Given the description of an element on the screen output the (x, y) to click on. 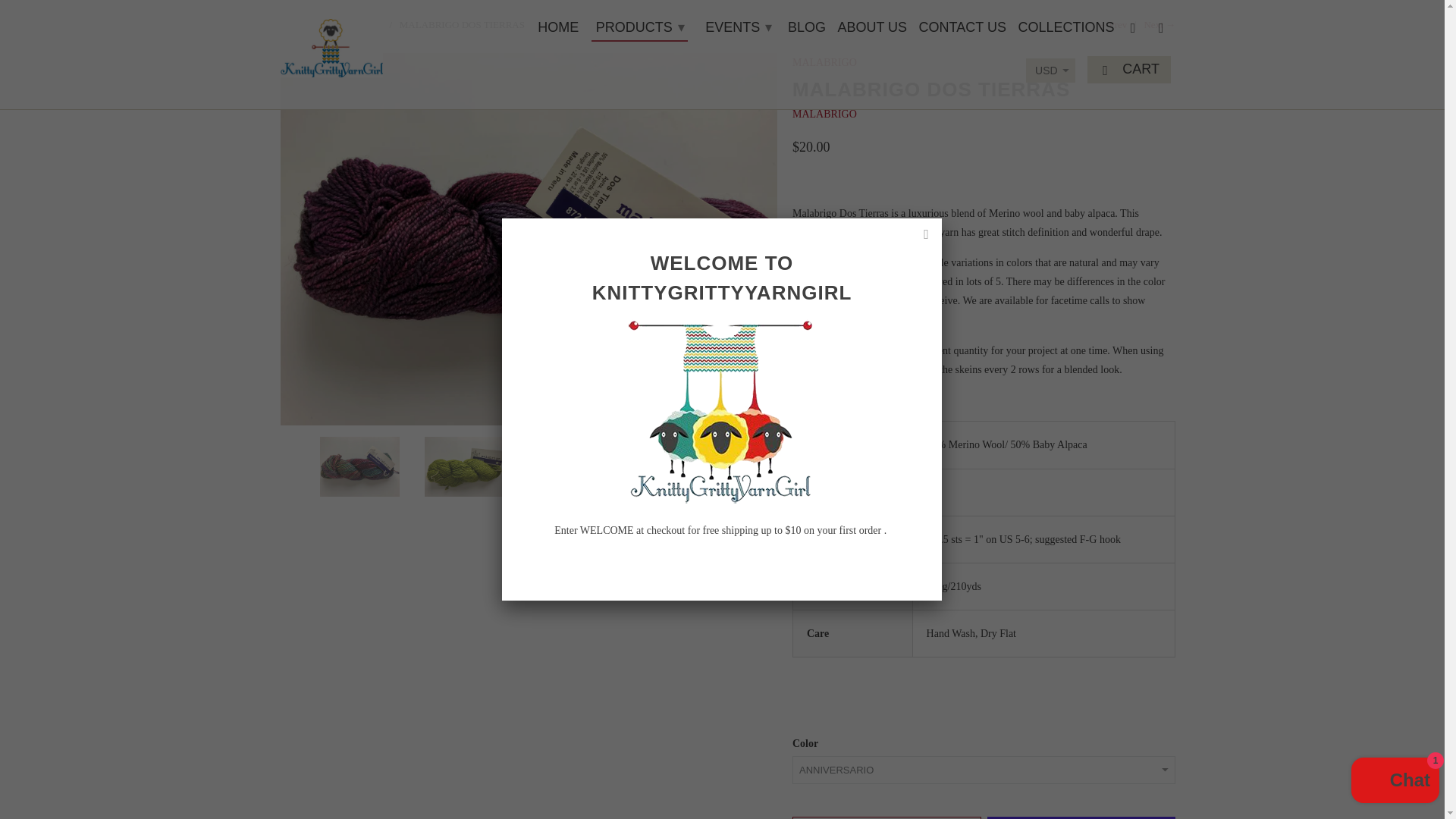
Knitty Gritty Yarn Girl (331, 43)
MALABRIGO (351, 24)
HOME (557, 29)
MALABRIGO (824, 113)
Knitty Gritty Yarn Girl (292, 24)
